Given the description of an element on the screen output the (x, y) to click on. 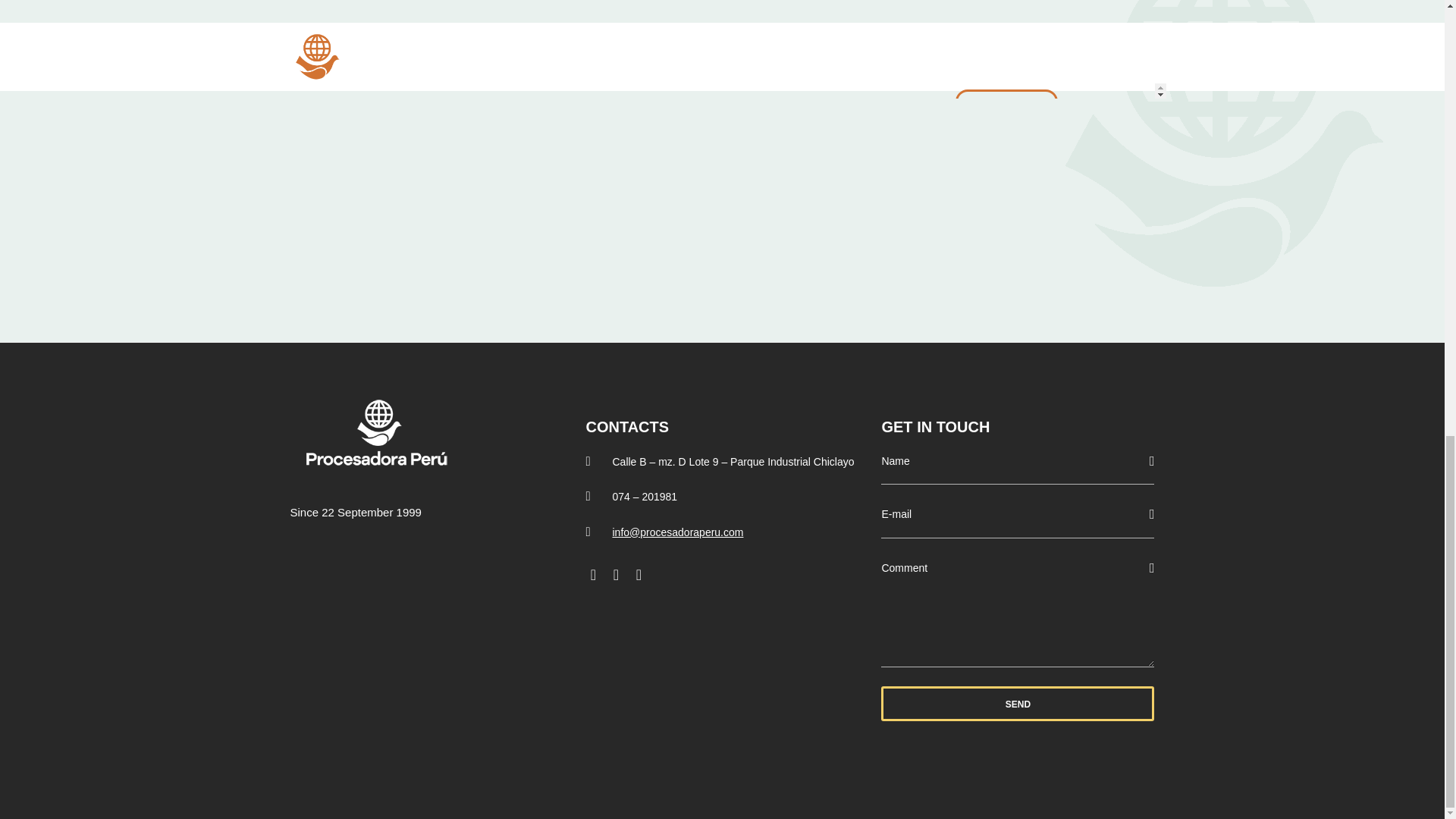
Send (1017, 703)
Send (1017, 703)
